Given the description of an element on the screen output the (x, y) to click on. 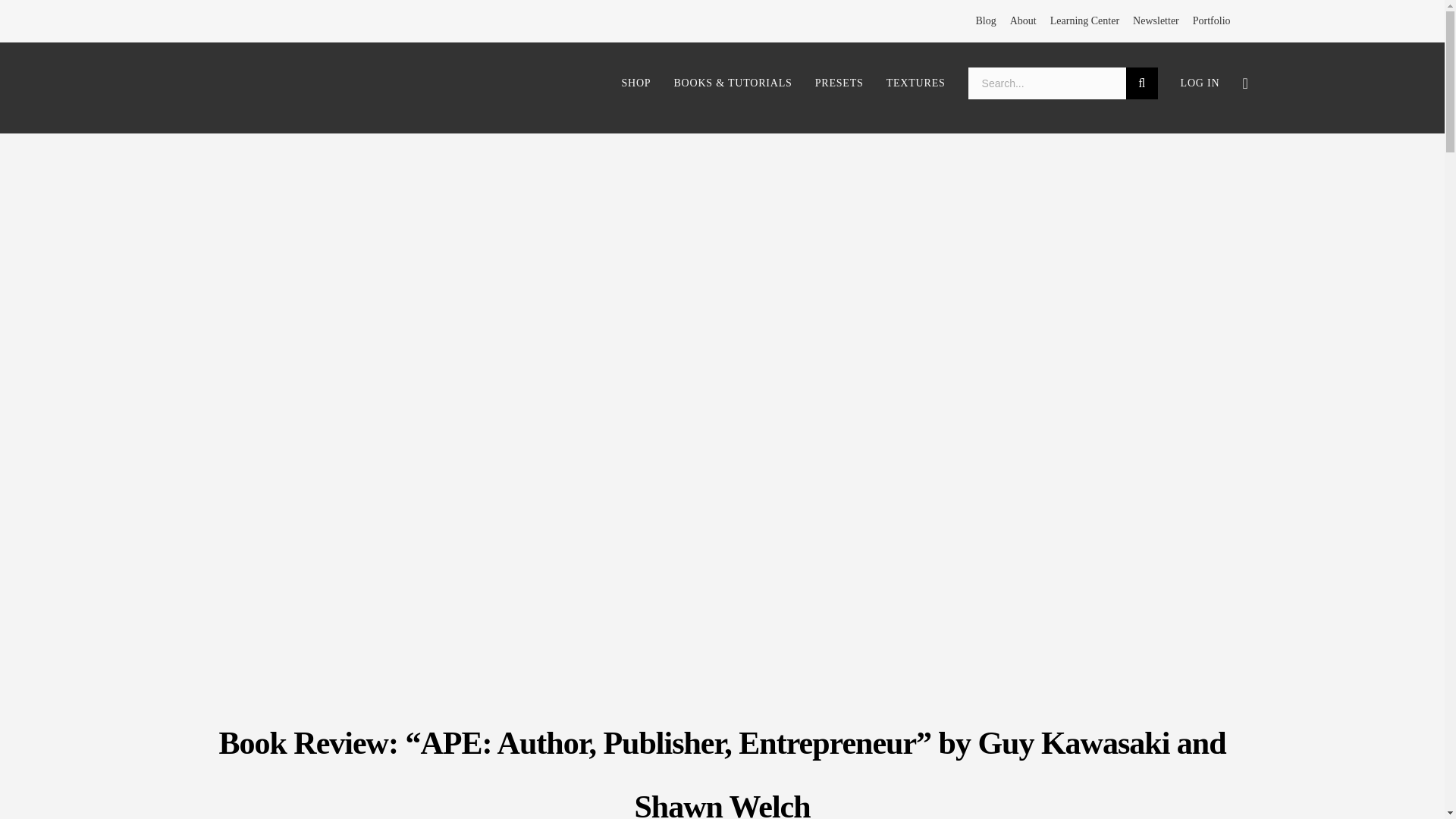
Portfolio (1211, 21)
PRESETS (838, 84)
Learning Center (1084, 21)
LOG IN (1200, 84)
TEXTURES (916, 84)
SHOP (635, 84)
Blog (985, 21)
Newsletter (1155, 21)
About (1023, 21)
